Given the description of an element on the screen output the (x, y) to click on. 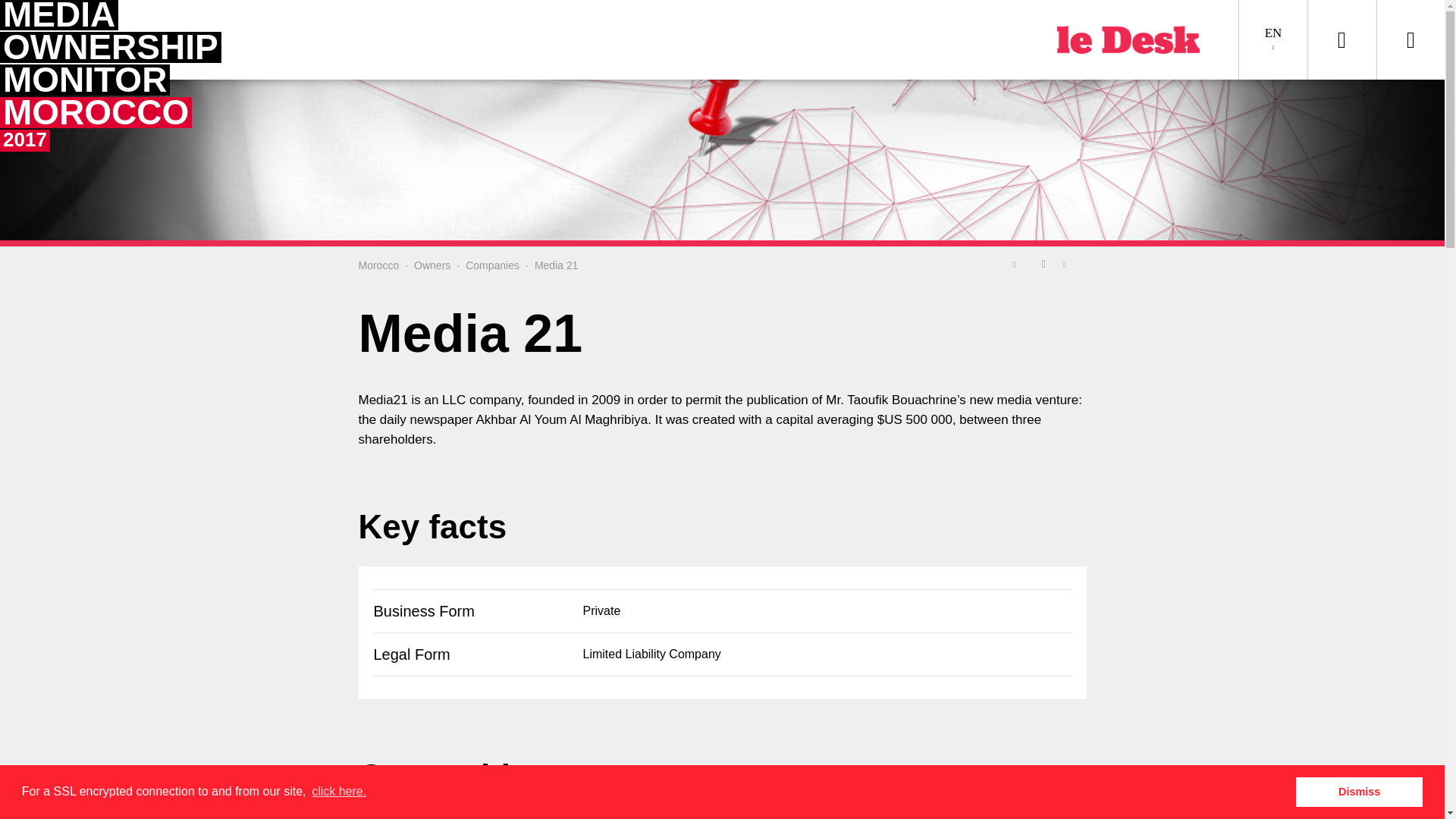
Share this site by e-mail (1068, 263)
Dismiss (1358, 791)
twitter (1017, 263)
Companies (492, 264)
facebook (1042, 263)
Morocco (378, 264)
Owners (431, 264)
Le Desk (1136, 39)
Media 21 (556, 264)
Owners (431, 264)
email (1068, 263)
Share this site on facebook (1042, 263)
Share this site on twitter (1017, 263)
Media Ownership Monitor Morocco (87, 76)
